Given the description of an element on the screen output the (x, y) to click on. 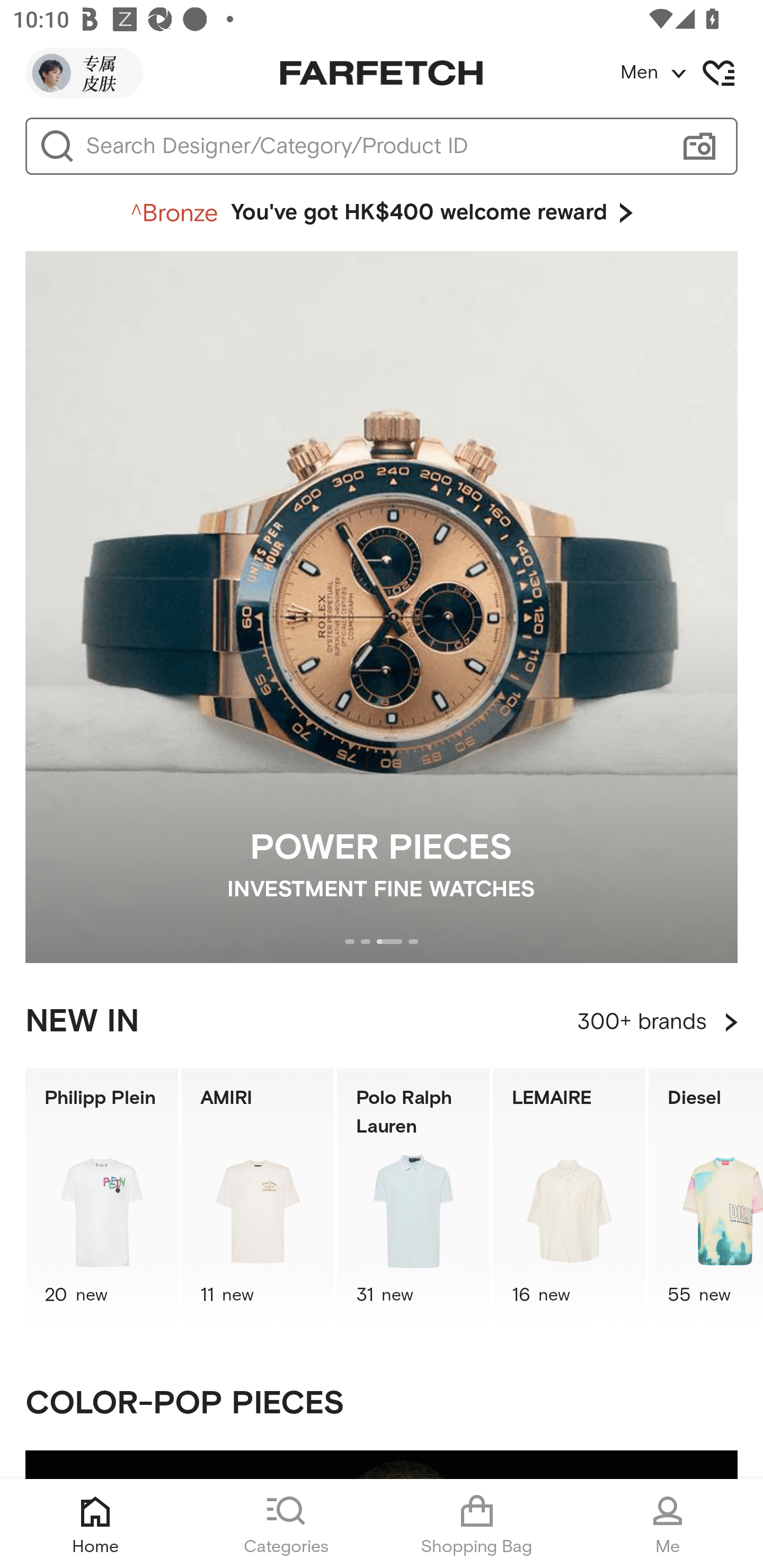
Men (691, 72)
Search Designer/Category/Product ID (373, 146)
You've got HK$400 welcome reward (381, 213)
NEW IN 300+ brands (381, 1021)
Philipp Plein 20  new (101, 1196)
AMIRI 11  new (257, 1196)
Polo Ralph Lauren 31  new (413, 1196)
LEMAIRE 16  new (568, 1196)
Diesel 55  new (705, 1196)
Categories (285, 1523)
Shopping Bag (476, 1523)
Me (667, 1523)
